Given the description of an element on the screen output the (x, y) to click on. 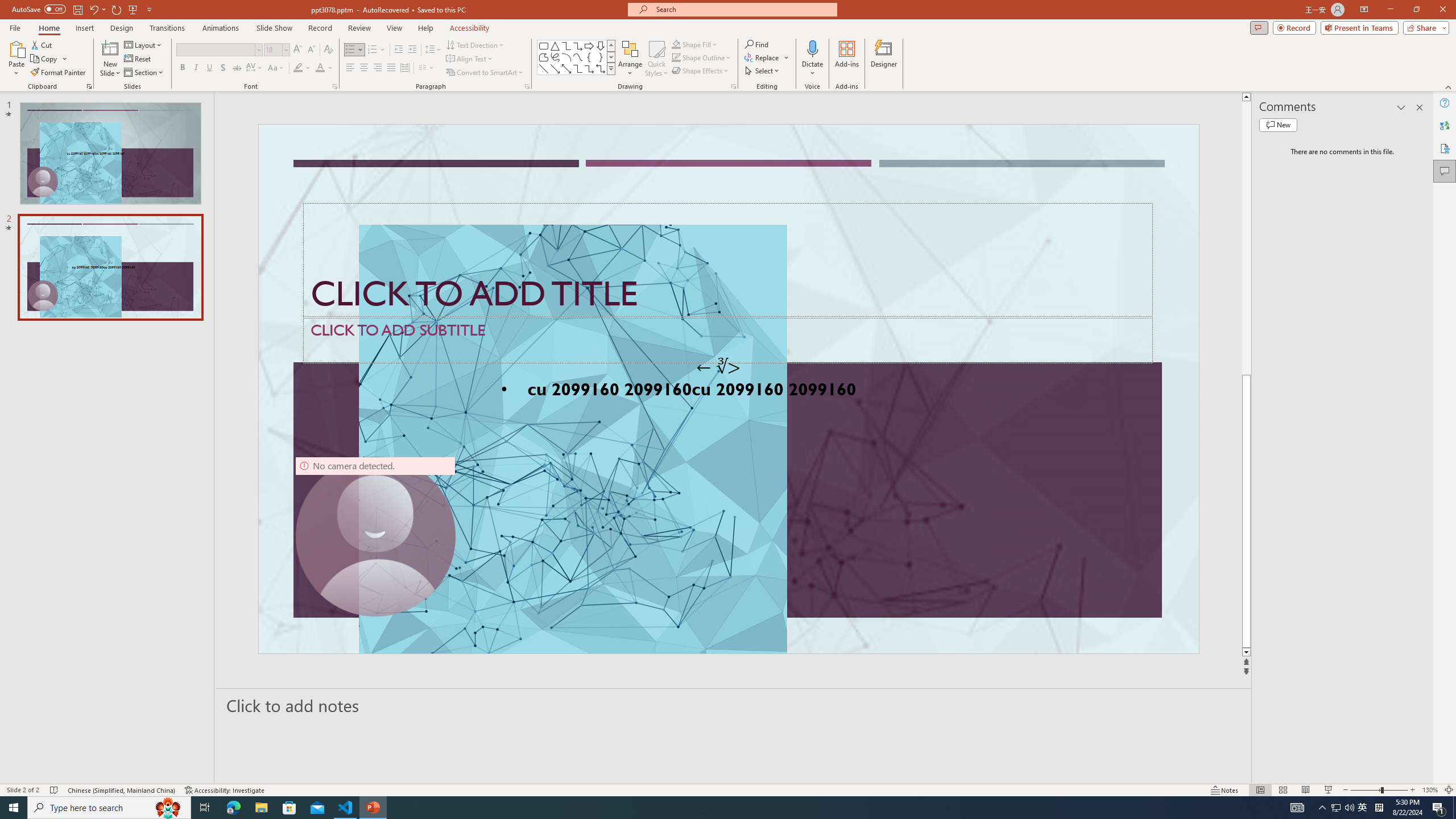
AutomationID: ShapesInsertGallery (576, 57)
Reset (138, 58)
Dictate (812, 58)
From Beginning (133, 9)
New comment (1278, 124)
Freeform: Shape (543, 57)
New Slide (110, 58)
Arc (566, 57)
Comments (1259, 27)
Columns (426, 67)
Reading View (1305, 790)
Accessibility (1444, 147)
